Given the description of an element on the screen output the (x, y) to click on. 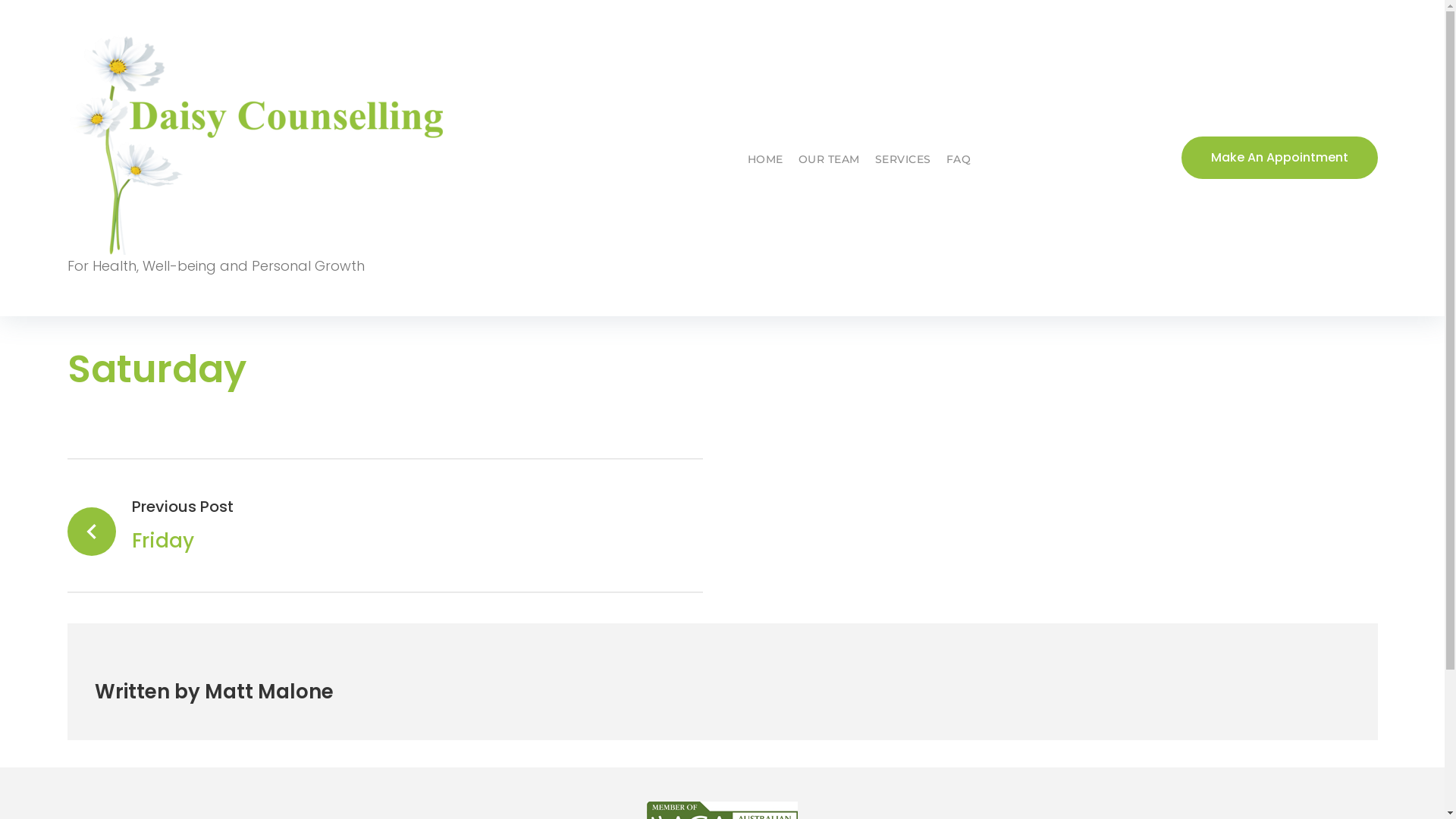
Make An Appointment Element type: text (1279, 157)
FAQ Element type: text (958, 159)
HOME Element type: text (765, 159)
Matt Malone Element type: text (268, 691)
Previous Post
Friday Element type: text (384, 523)
OUR TEAM Element type: text (828, 159)
SERVICES Element type: text (902, 159)
